Given the description of an element on the screen output the (x, y) to click on. 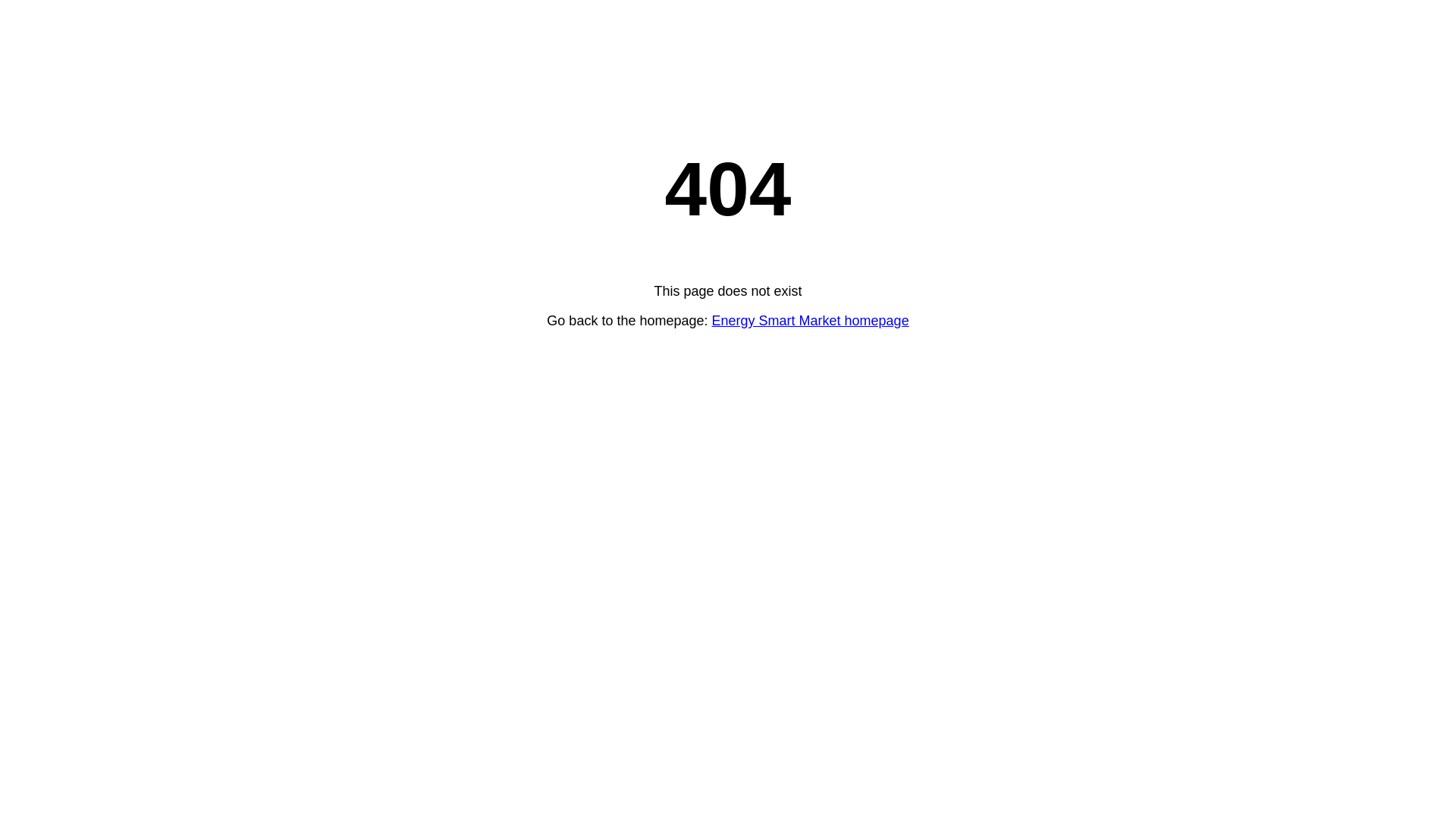
Energy Smart Market homepage Element type: text (810, 320)
